Given the description of an element on the screen output the (x, y) to click on. 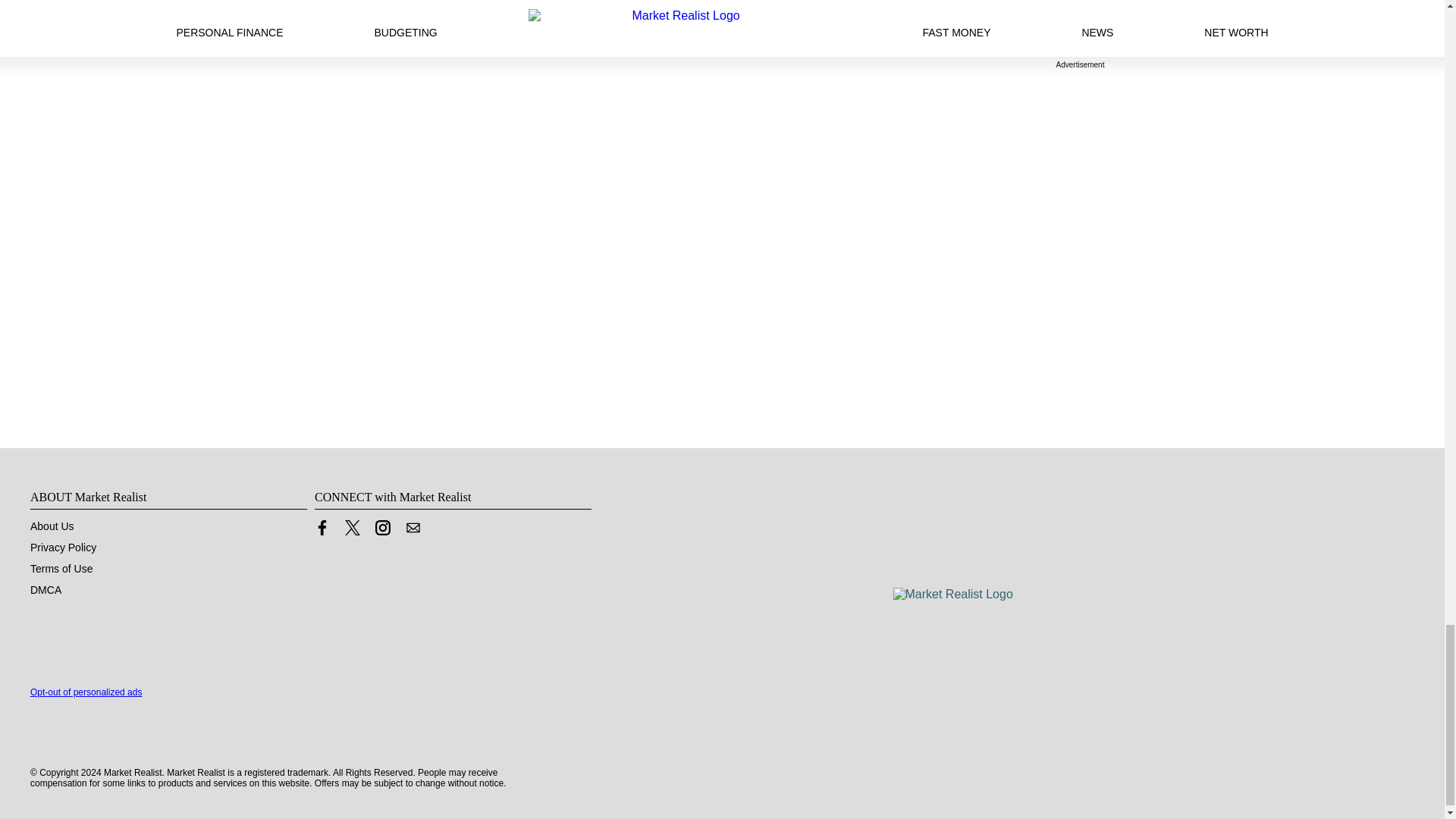
Link to Instagram (382, 531)
Terms of Use (61, 568)
DMCA (45, 589)
About Us (52, 526)
Privacy Policy (63, 547)
Link to Facebook (322, 531)
Link to X (352, 527)
Link to Instagram (382, 527)
Contact us by Email (413, 527)
Link to X (352, 531)
